Given the description of an element on the screen output the (x, y) to click on. 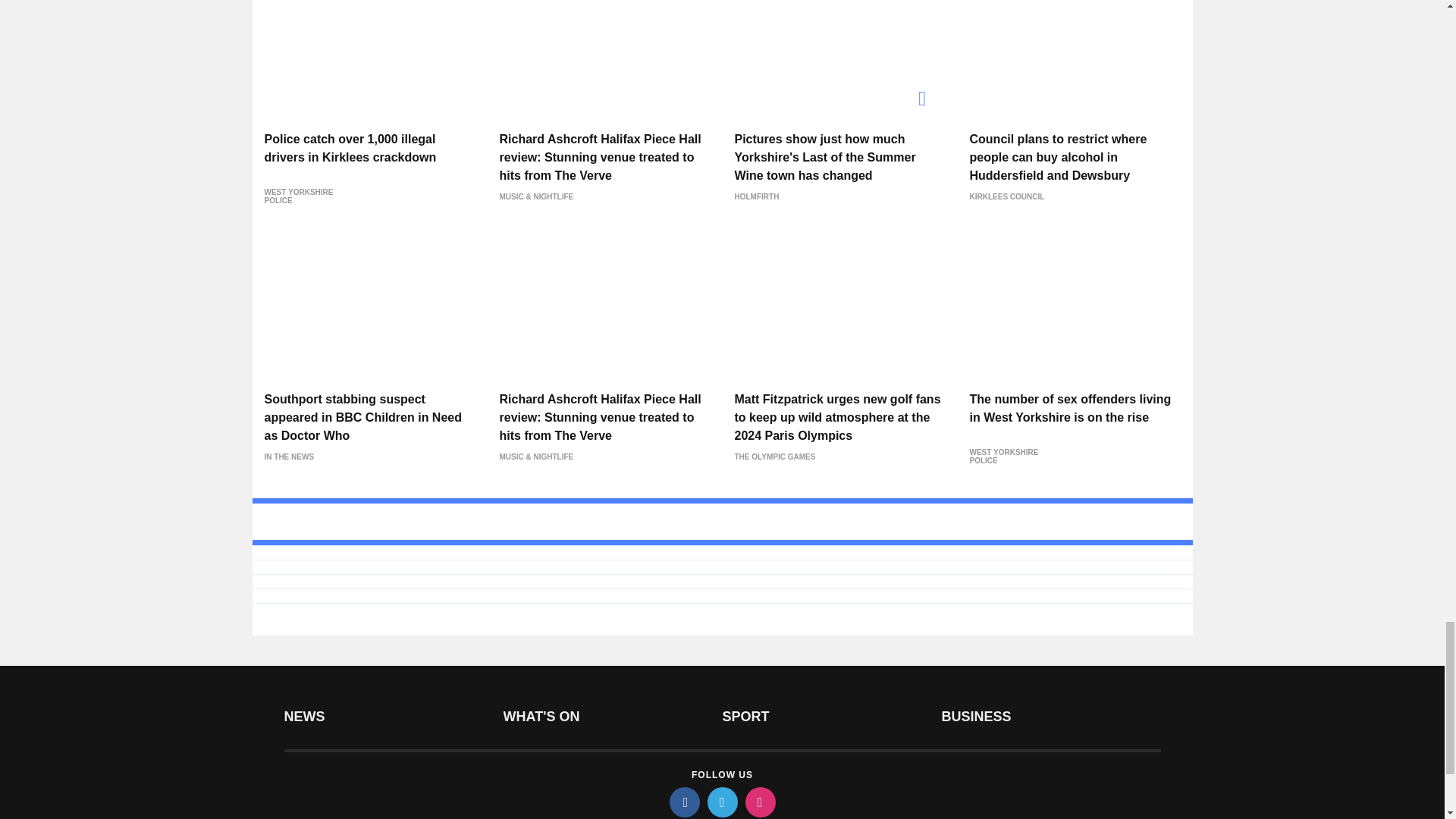
facebook (683, 802)
twitter (721, 802)
instagram (759, 802)
